Given the description of an element on the screen output the (x, y) to click on. 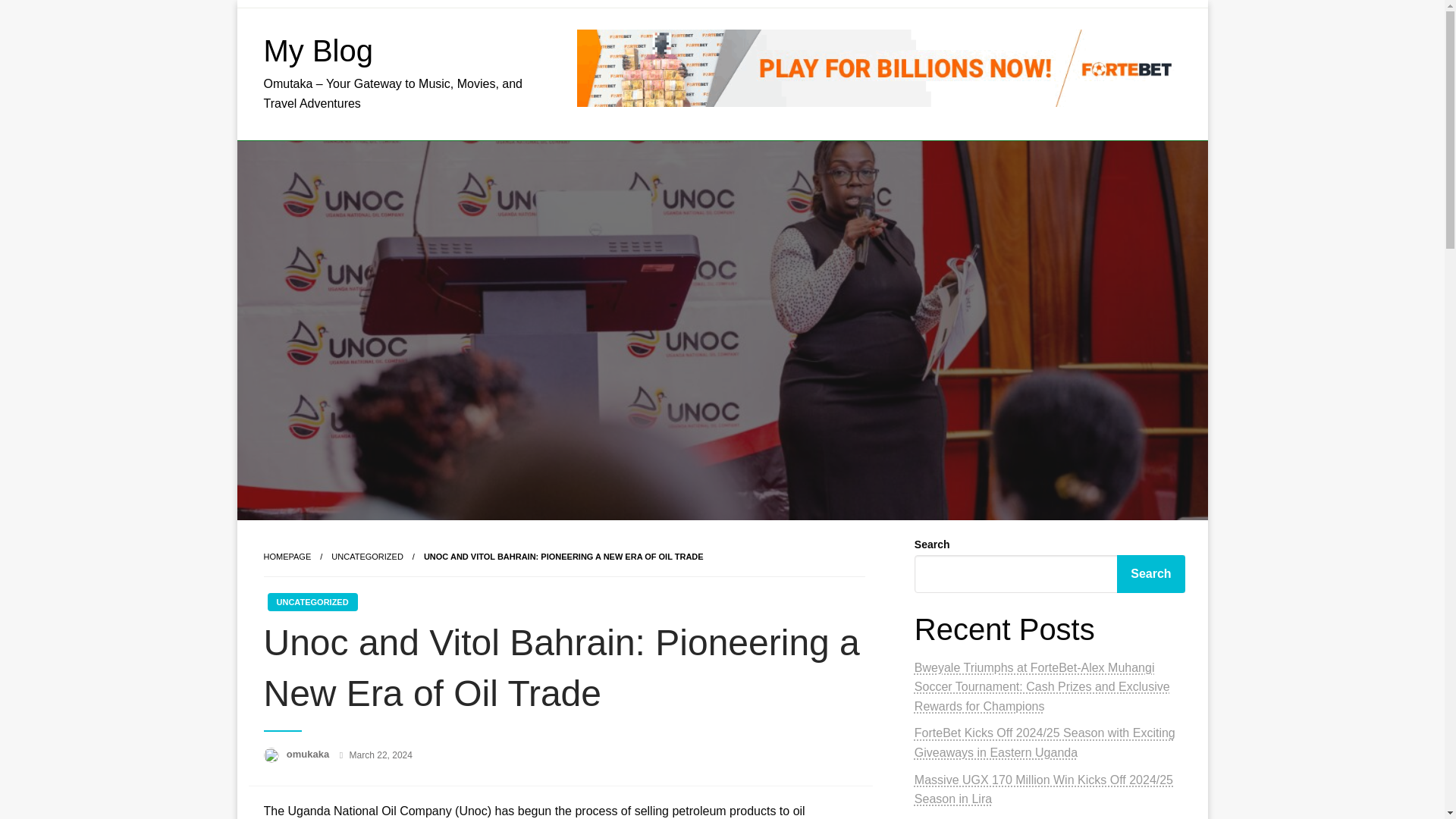
March 22, 2024 (380, 755)
Uncategorized (367, 556)
omukaka (308, 754)
My Blog (318, 50)
Search (1150, 573)
Unoc and Vitol Bahrain: Pioneering a New Era of Oil Trade (563, 556)
UNCATEGORIZED (367, 556)
UNCATEGORIZED (311, 601)
omukaka (308, 754)
